Given the description of an element on the screen output the (x, y) to click on. 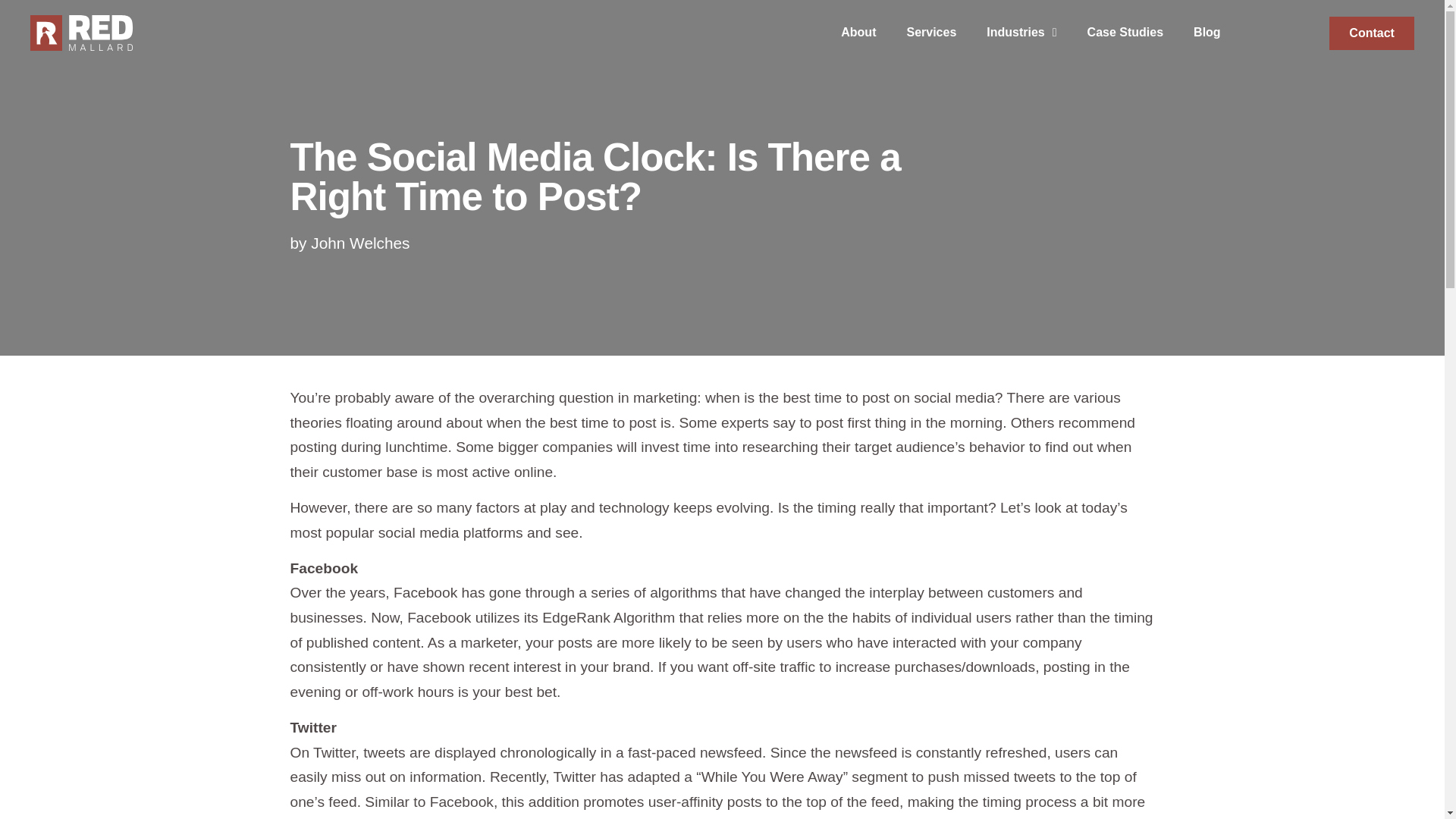
Contact (1371, 32)
Case Studies (1124, 32)
About (858, 32)
Industries (1021, 32)
Blog (1206, 32)
Services (931, 32)
